Given the description of an element on the screen output the (x, y) to click on. 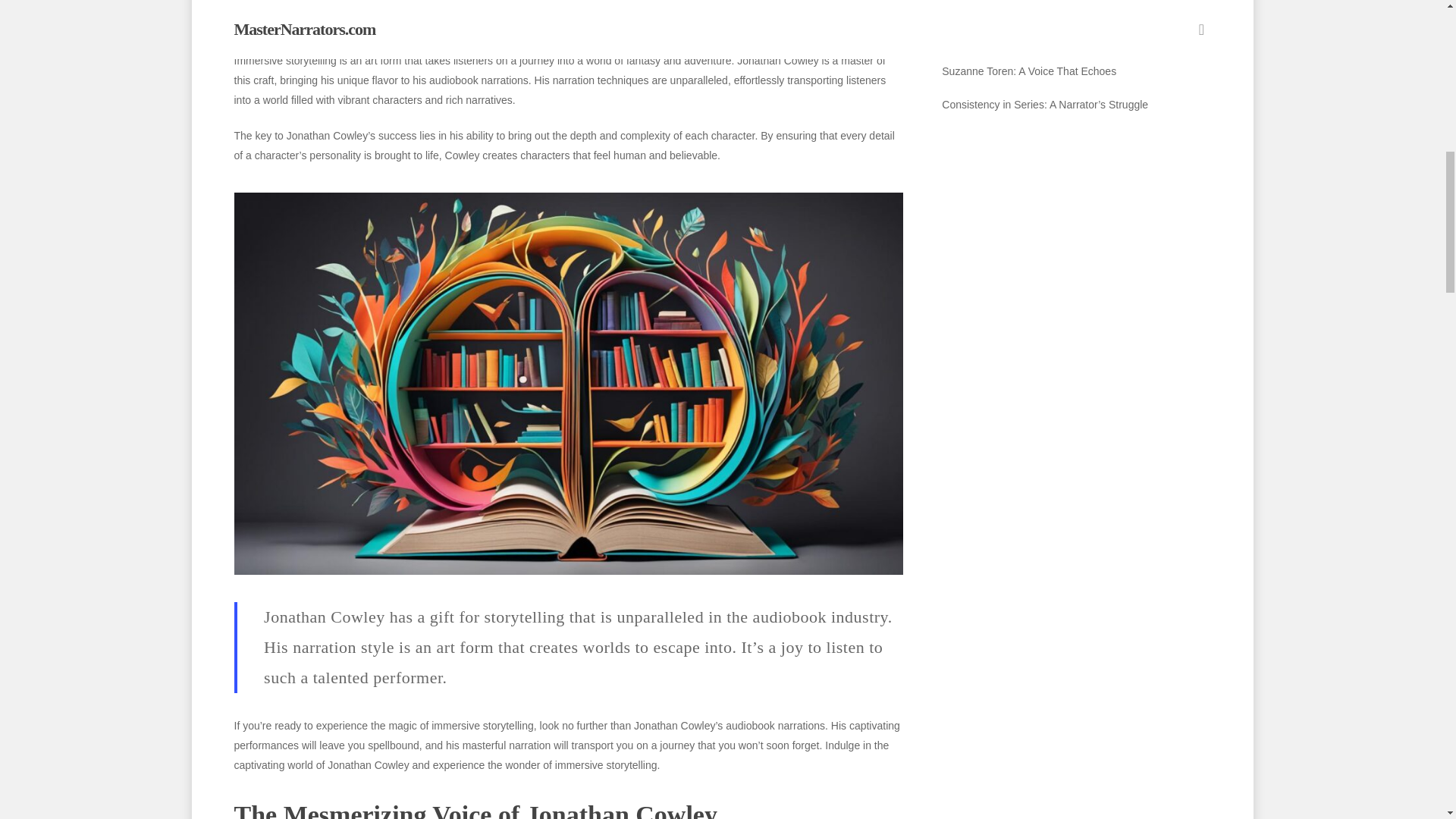
Tim Gerard Reynolds: The Voice of Fantasy (1075, 7)
